Given the description of an element on the screen output the (x, y) to click on. 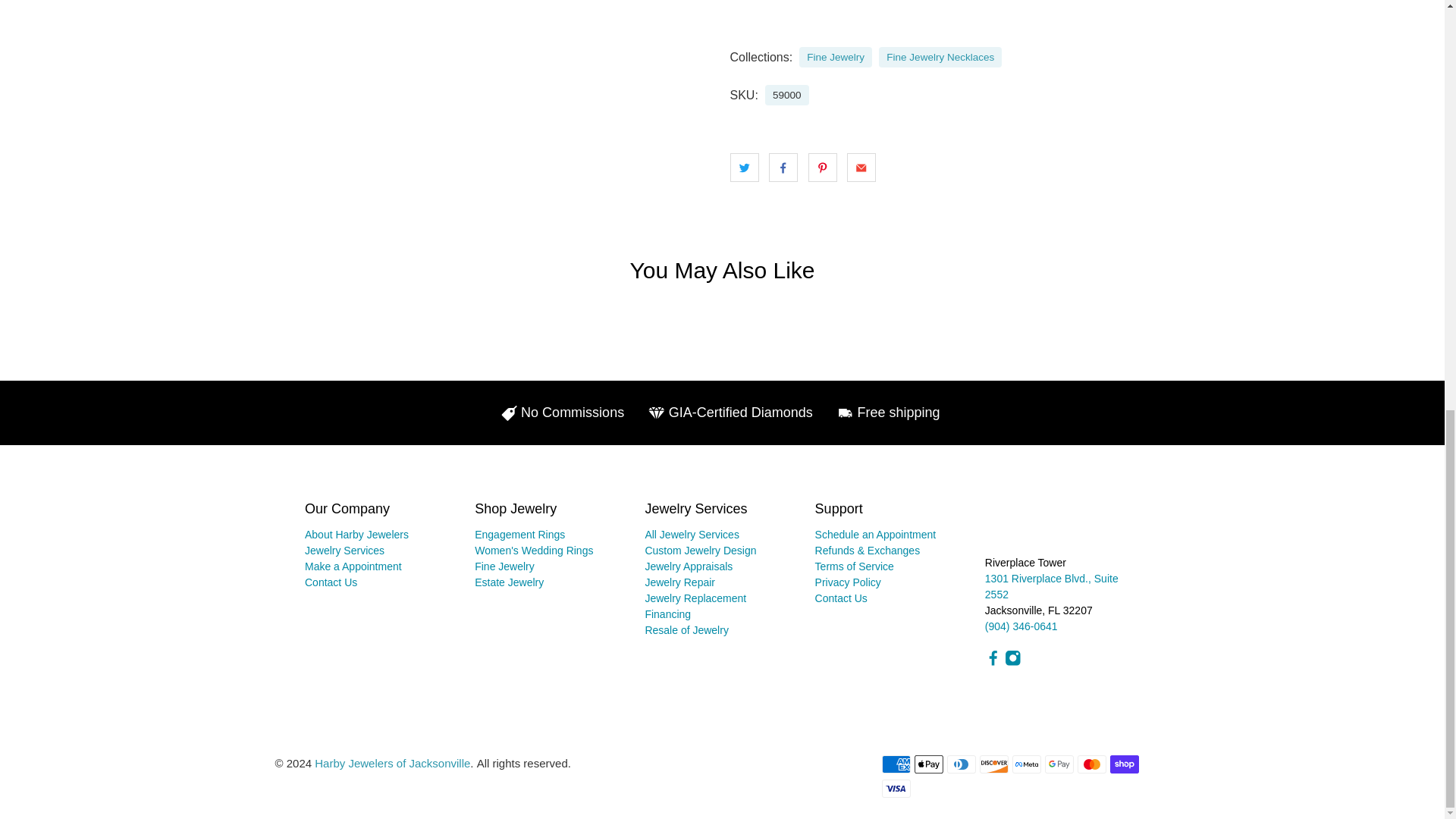
Share this on Twitter (743, 167)
Harby Jewelers of Jacksonville on Facebook (993, 662)
Harby Jewelers of Jacksonville (1046, 526)
Fine Jewelry Necklaces (940, 57)
Share this on Pinterest (822, 167)
Discover (994, 764)
American Express (895, 764)
Google Pay (1059, 764)
Apple Pay (928, 764)
Harby Jewelers of Jacksonville on Instagram (1013, 662)
Diners Club (961, 764)
Share this on Facebook (782, 167)
Meta Pay (1026, 764)
Email this to a friend (861, 167)
Fine Jewelry (835, 57)
